Given the description of an element on the screen output the (x, y) to click on. 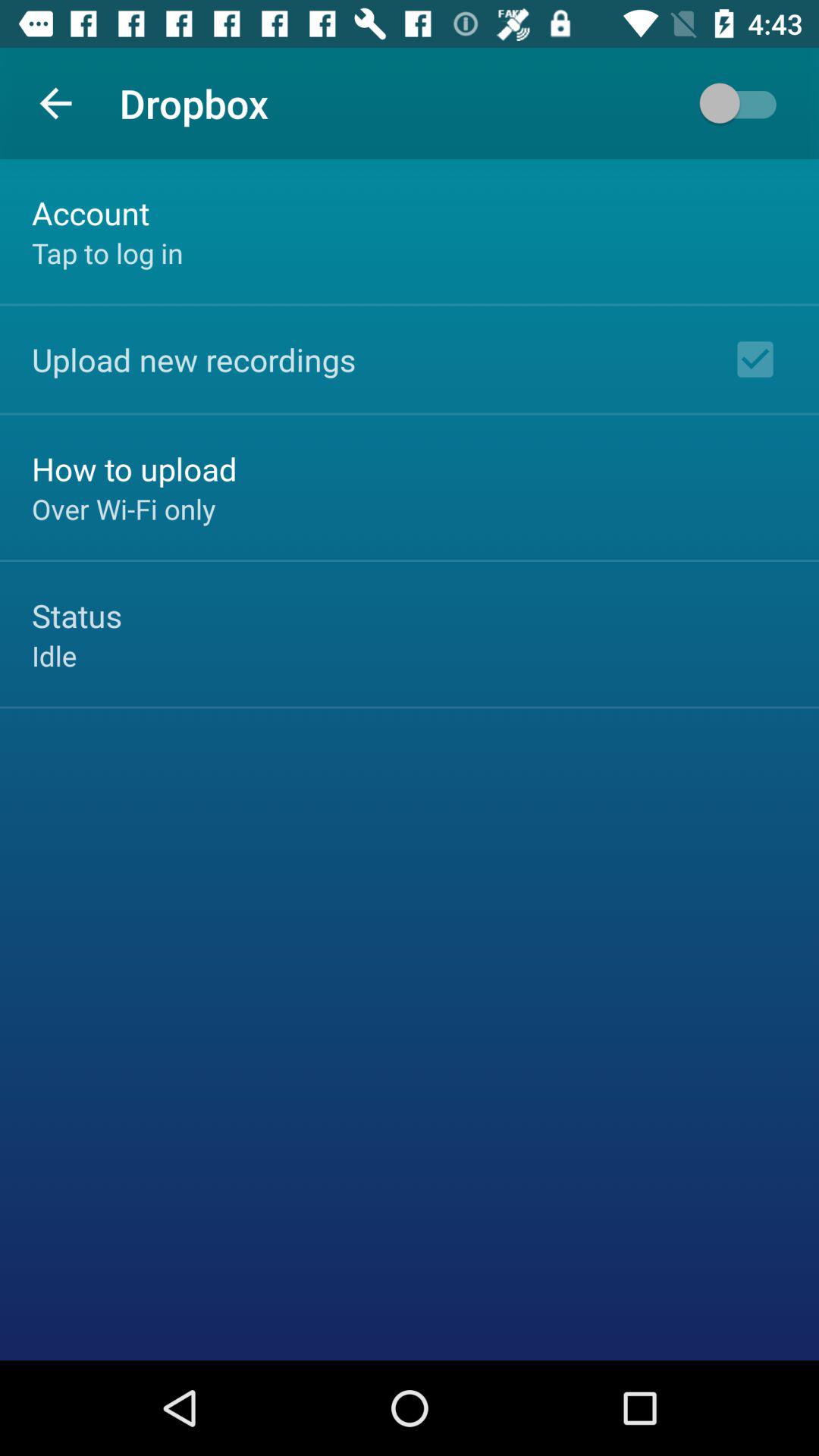
choose the over wi fi item (123, 508)
